Given the description of an element on the screen output the (x, y) to click on. 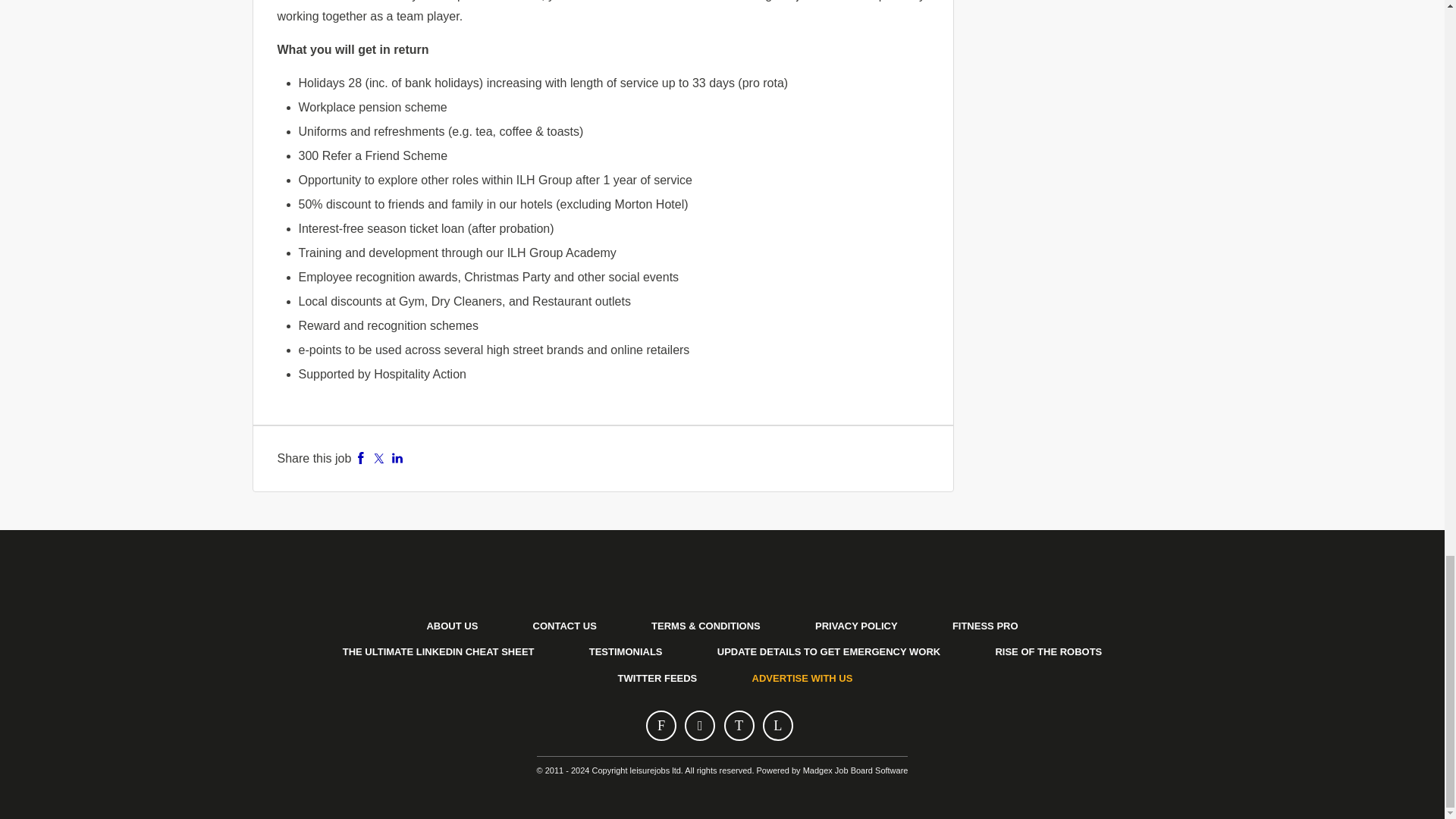
Twitter (378, 458)
Facebook (360, 458)
LinkedIn (397, 458)
